Given the description of an element on the screen output the (x, y) to click on. 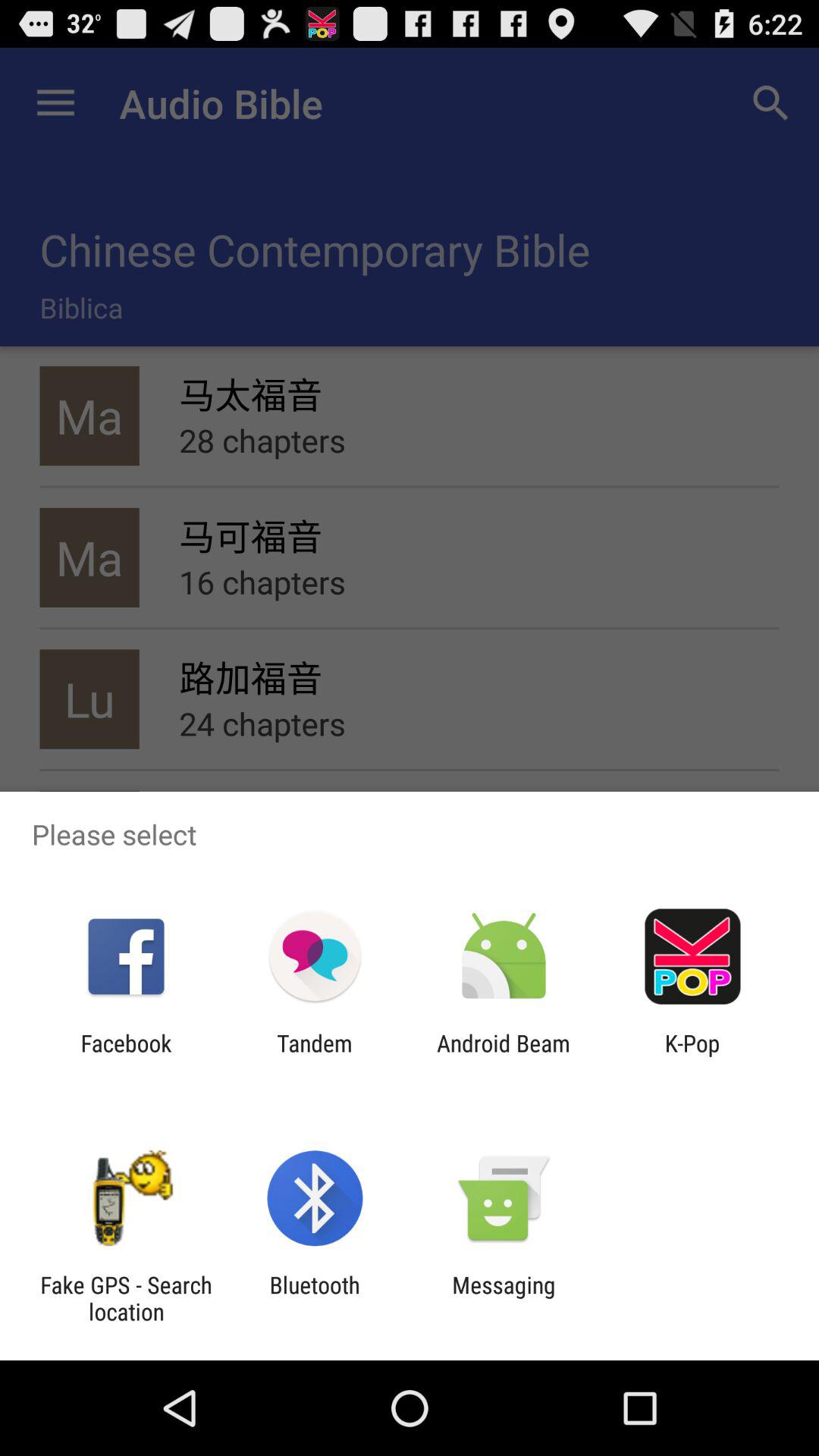
turn off the android beam item (503, 1056)
